Given the description of an element on the screen output the (x, y) to click on. 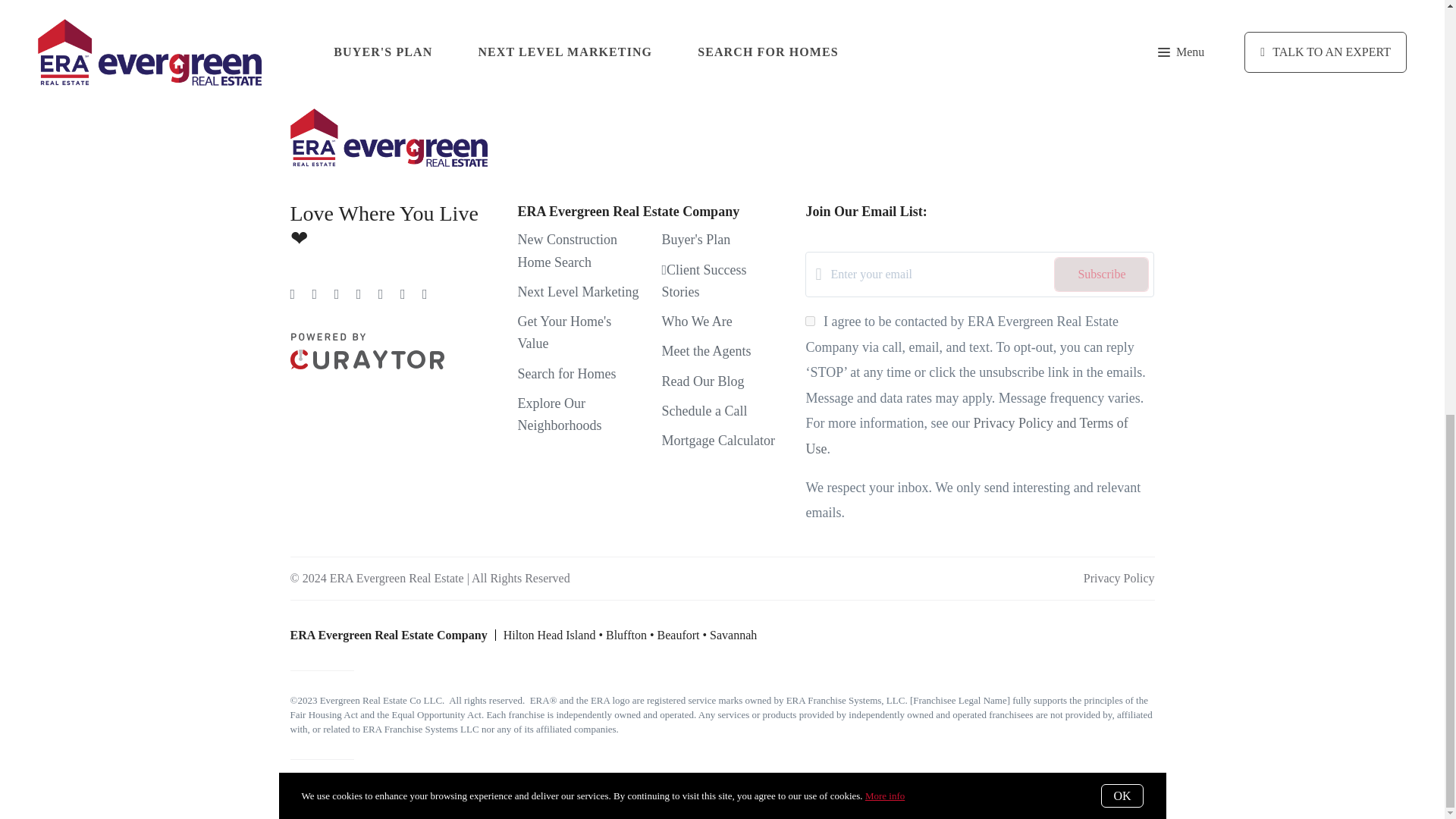
on (810, 320)
curaytor-horizontal (366, 350)
